Given the description of an element on the screen output the (x, y) to click on. 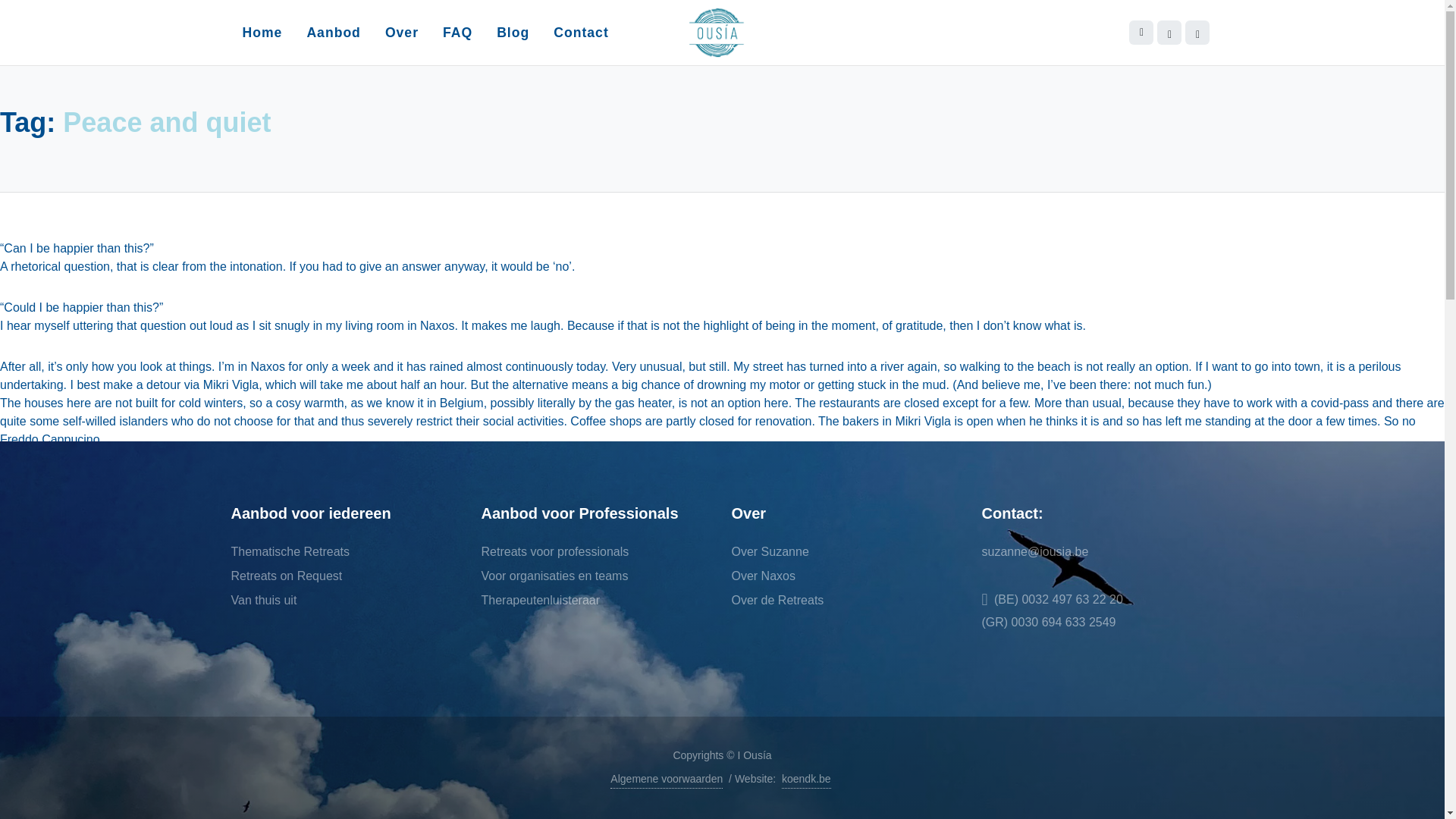
Aanbod (333, 31)
Home (262, 31)
